Given the description of an element on the screen output the (x, y) to click on. 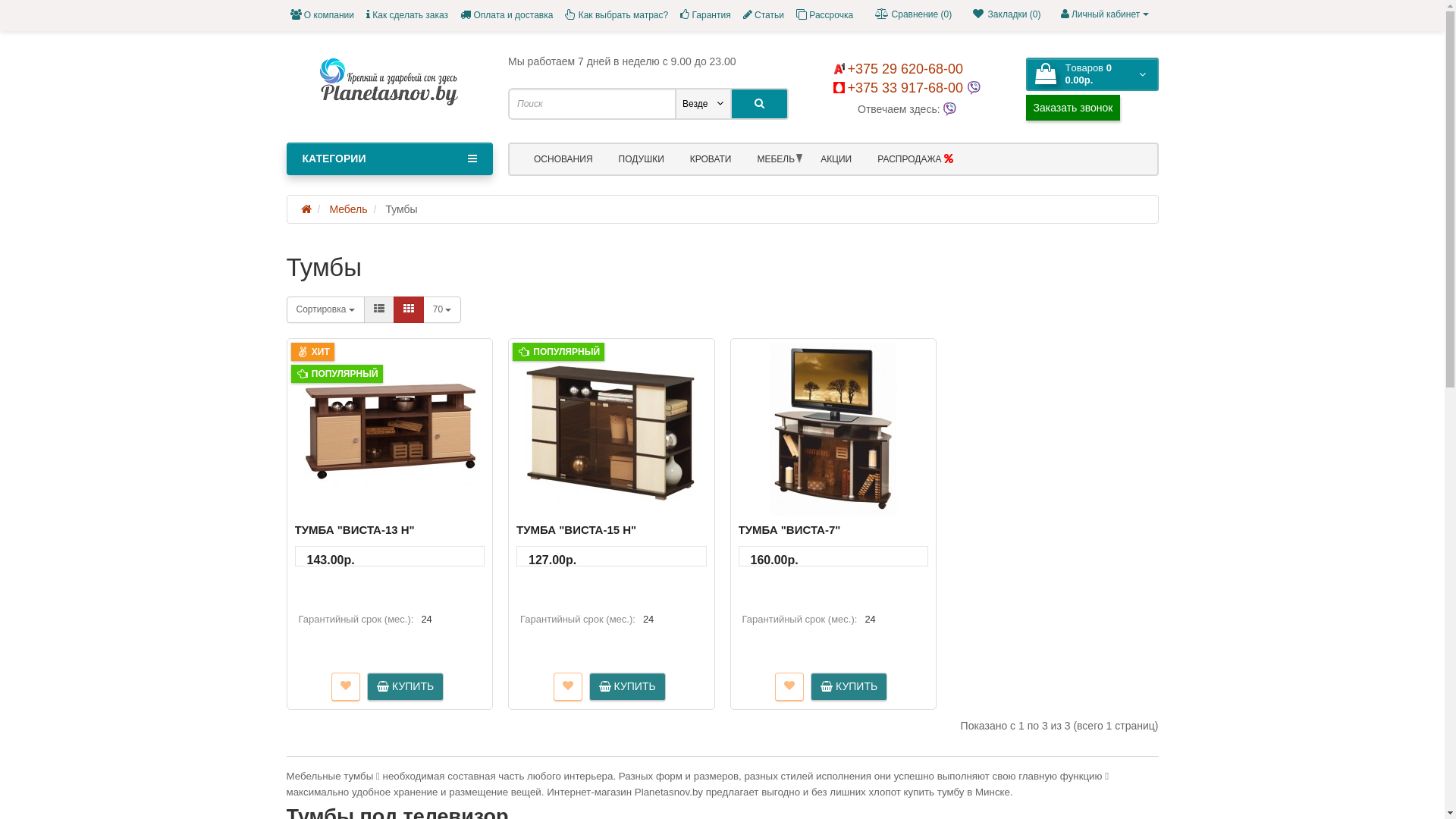
+375 29 620-68-00 Element type: text (898, 68)
70 Element type: text (442, 309)
+375 33 917-68-00 Element type: text (899, 87)
